Given the description of an element on the screen output the (x, y) to click on. 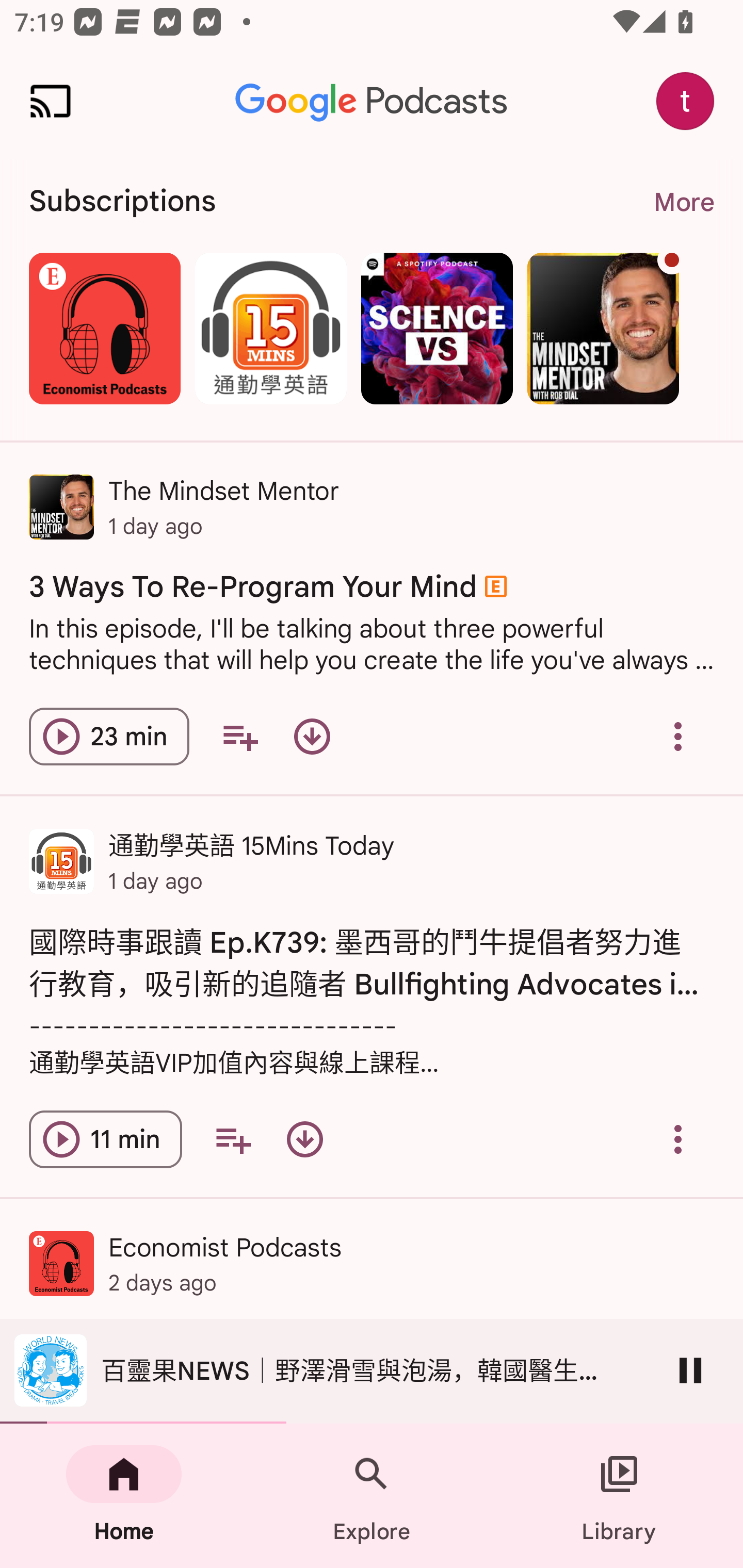
Cast. Disconnected (50, 101)
More More. Navigate to subscriptions page. (683, 202)
Economist Podcasts (104, 328)
通勤學英語 15Mins Today (270, 328)
Science Vs (436, 328)
The Mindset Mentor (603, 328)
Play episode 3 Ways To Re-Program Your Mind 23 min (108, 736)
Add to your queue (239, 736)
Download episode (312, 736)
Overflow menu (677, 736)
Add to your queue (232, 1139)
Download episode (304, 1139)
Overflow menu (677, 1139)
Pause (690, 1370)
Explore (371, 1495)
Library (619, 1495)
